Given the description of an element on the screen output the (x, y) to click on. 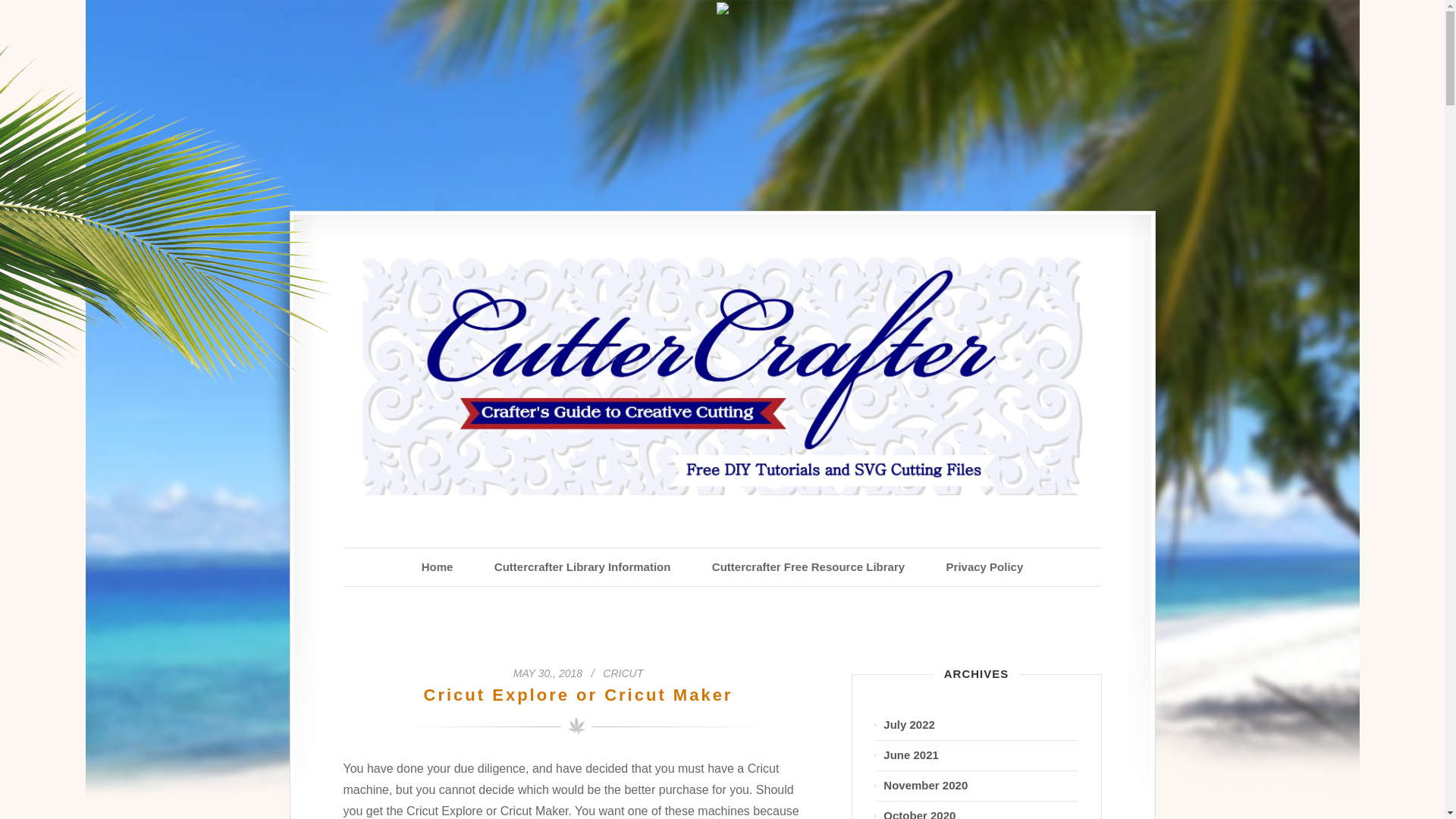
Cricut Explore or Cricut Maker (578, 694)
Cuttercrafter Free Resource Library (808, 566)
Privacy Policy (984, 566)
Cuttercrafter Library Information (583, 566)
Home (437, 566)
CRICUT (622, 673)
July 2022 (976, 724)
